Given the description of an element on the screen output the (x, y) to click on. 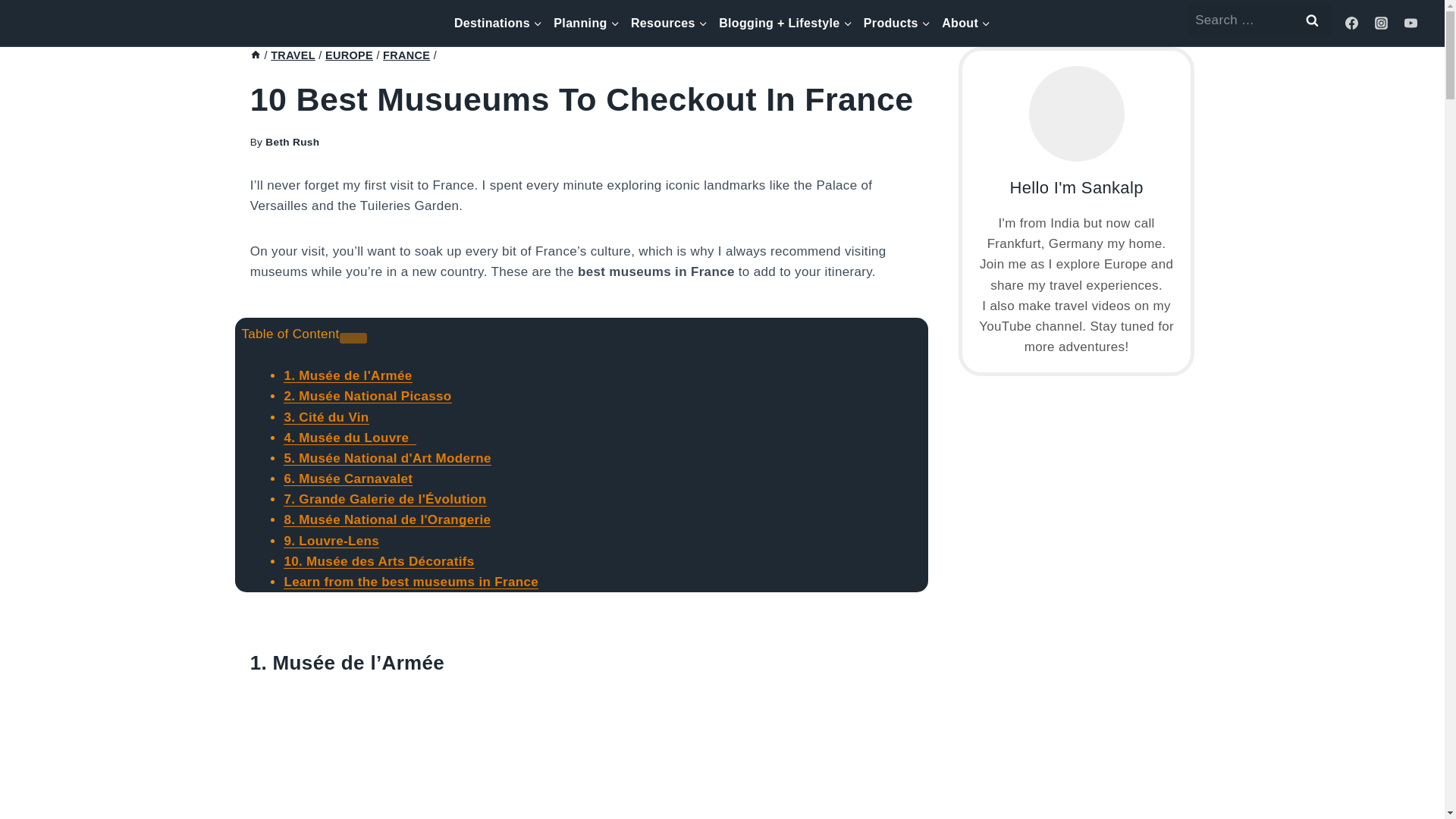
10 Best Musueums to Checkout in France 1 (582, 753)
Posts by Beth Rush (291, 142)
Search (1313, 20)
Destinations (497, 22)
Search (1313, 20)
